Given the description of an element on the screen output the (x, y) to click on. 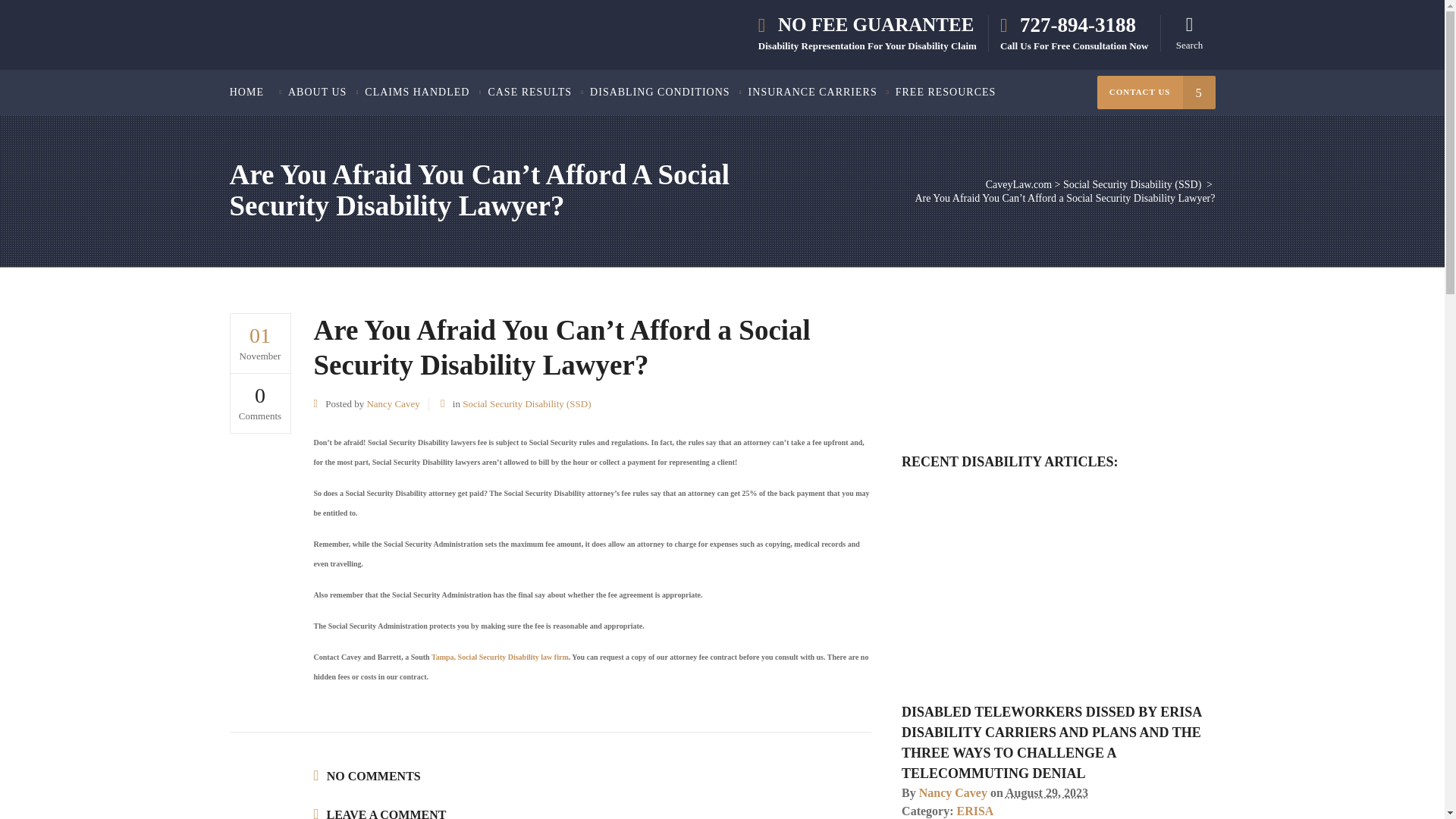
Search (1188, 33)
Nancy Cavey (952, 792)
HOME (254, 92)
CLAIMS HANDLED (417, 92)
Tuesday, August 29th, 2023, 10:58 am (1046, 792)
Tampa Social Security Disability Lawyer (499, 655)
ABOUT US (317, 92)
